Given the description of an element on the screen output the (x, y) to click on. 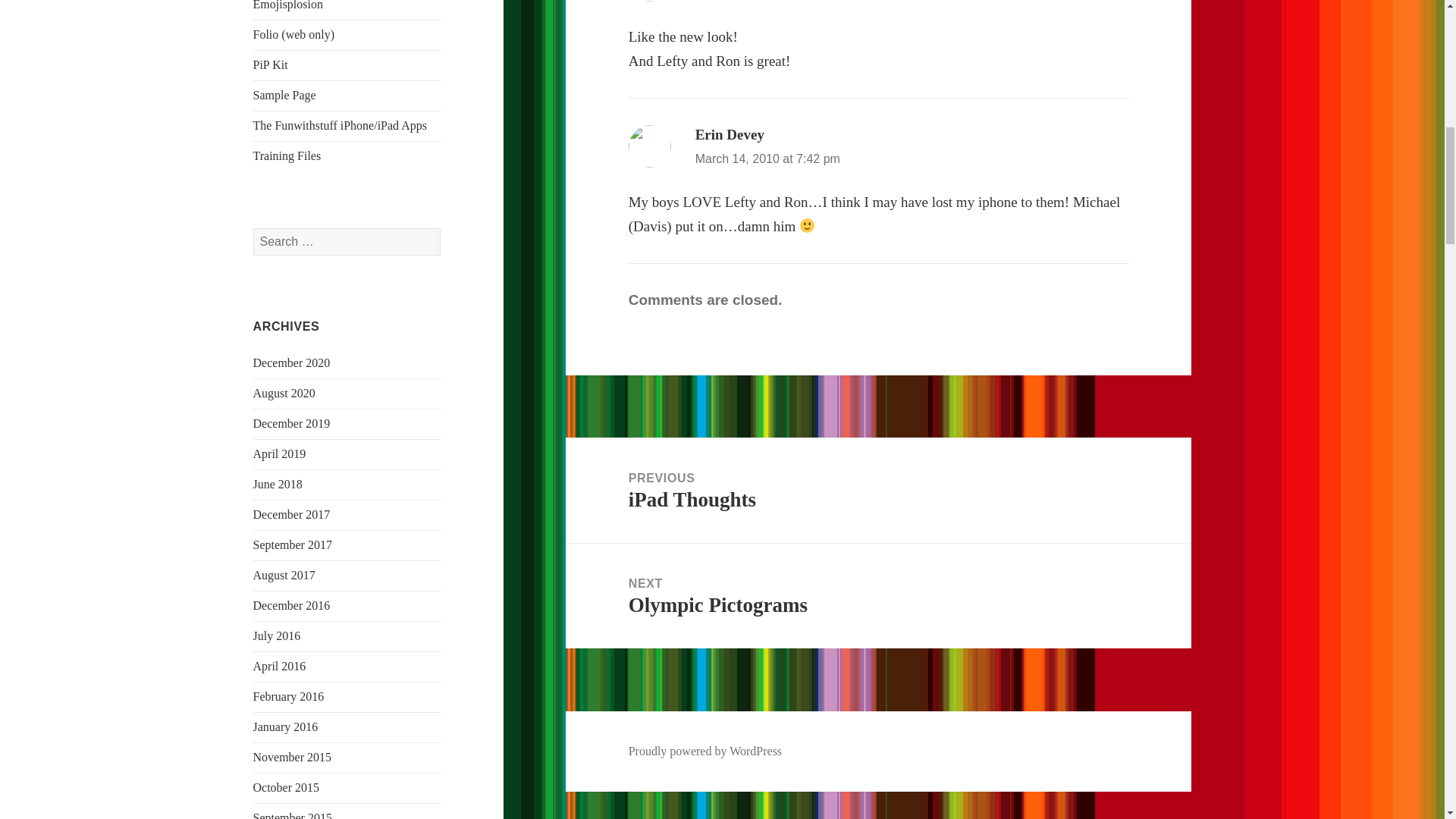
December 2020 (291, 362)
June 2018 (277, 483)
December 2016 (291, 604)
August 2020 (284, 392)
Sample Page (284, 94)
November 2015 (292, 757)
September 2015 (292, 815)
December 2019 (291, 422)
PiP Kit (270, 64)
April 2016 (279, 666)
October 2015 (286, 787)
February 2016 (288, 696)
August 2017 (284, 574)
Emojisplosion (288, 5)
